Given the description of an element on the screen output the (x, y) to click on. 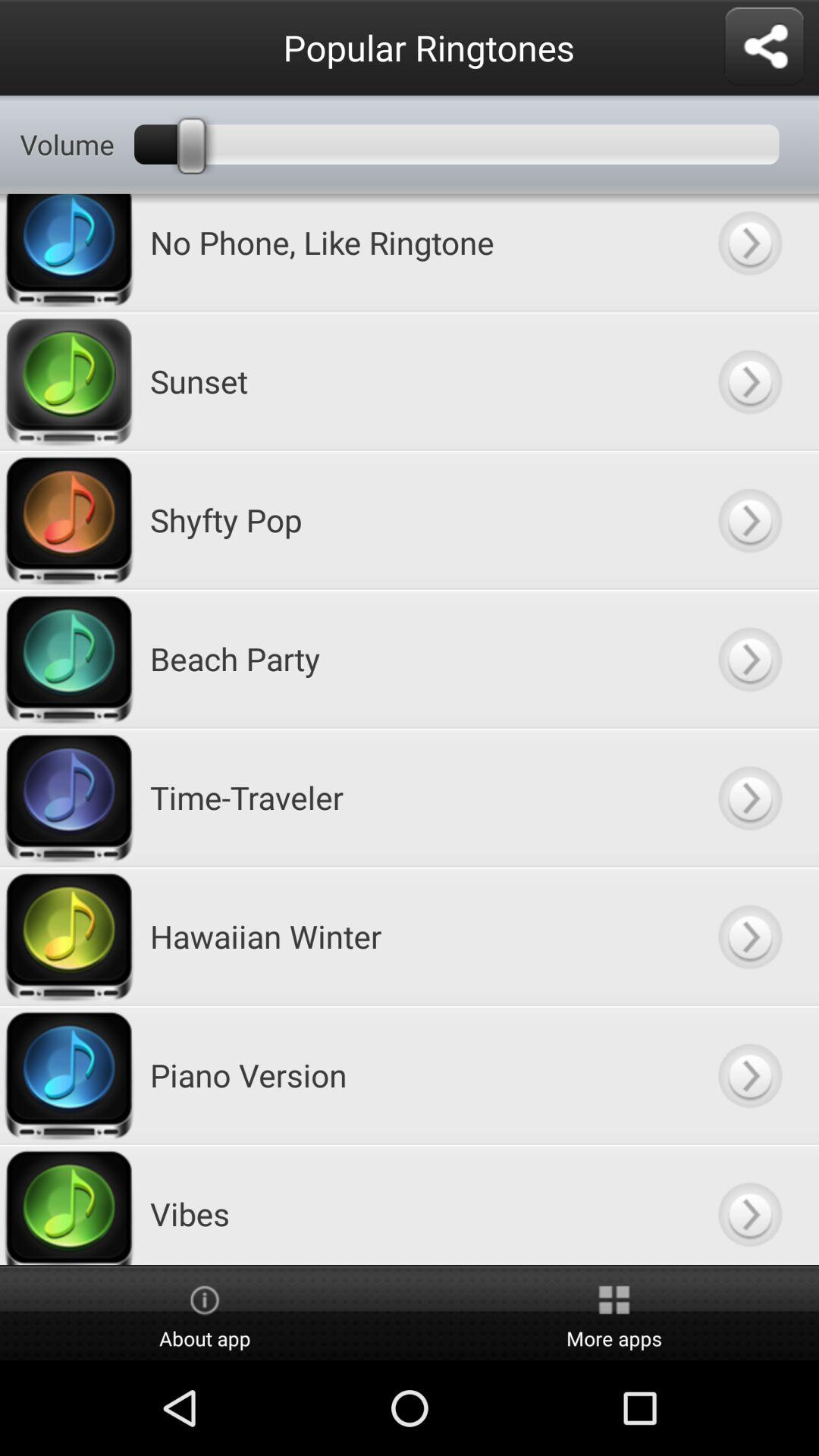
play audio (749, 1075)
